Given the description of an element on the screen output the (x, y) to click on. 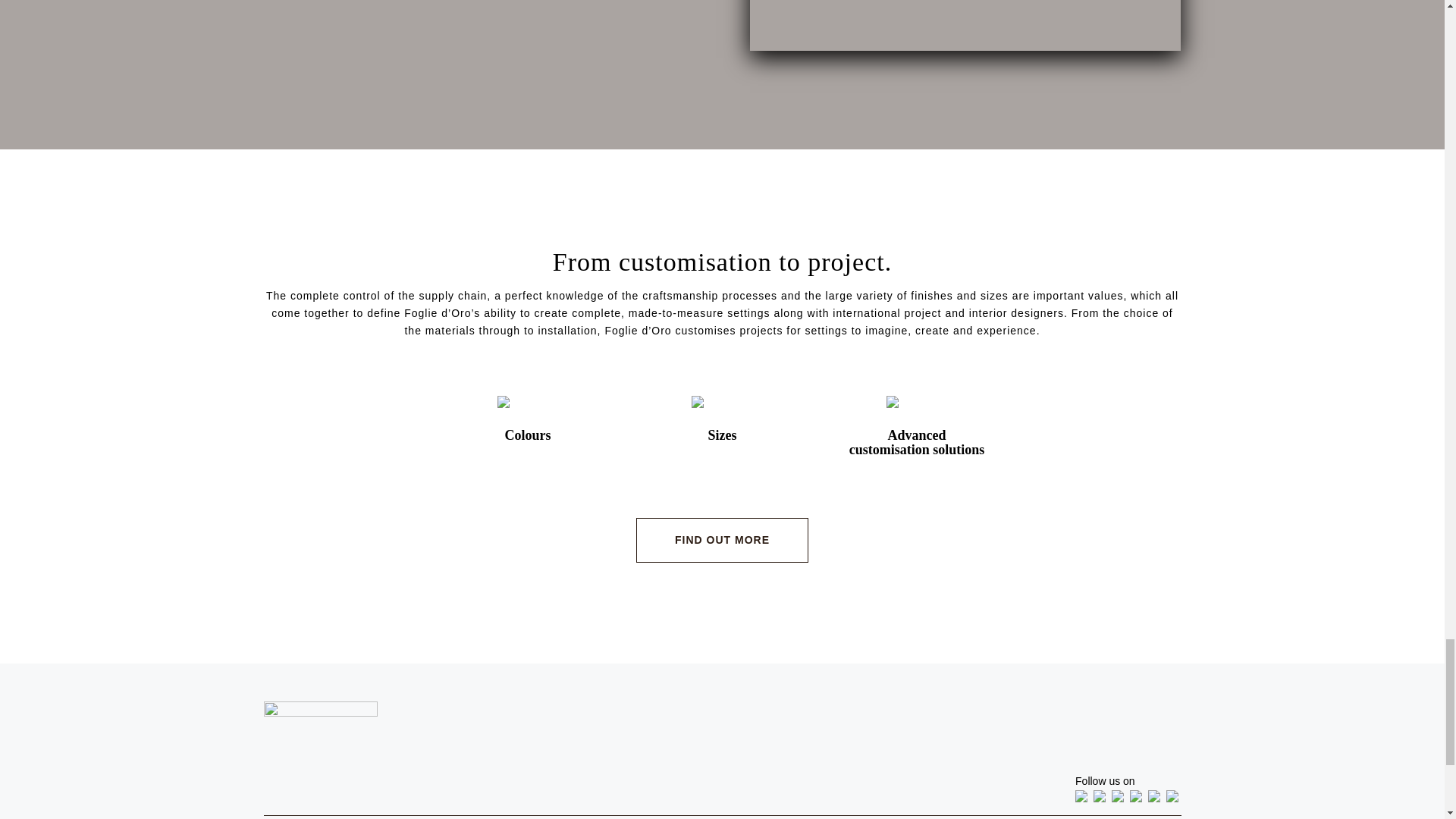
Architonic Foglie d'Oro (1084, 798)
Archiproducts Foglie d'Oro (1102, 798)
colori (964, 25)
